Given the description of an element on the screen output the (x, y) to click on. 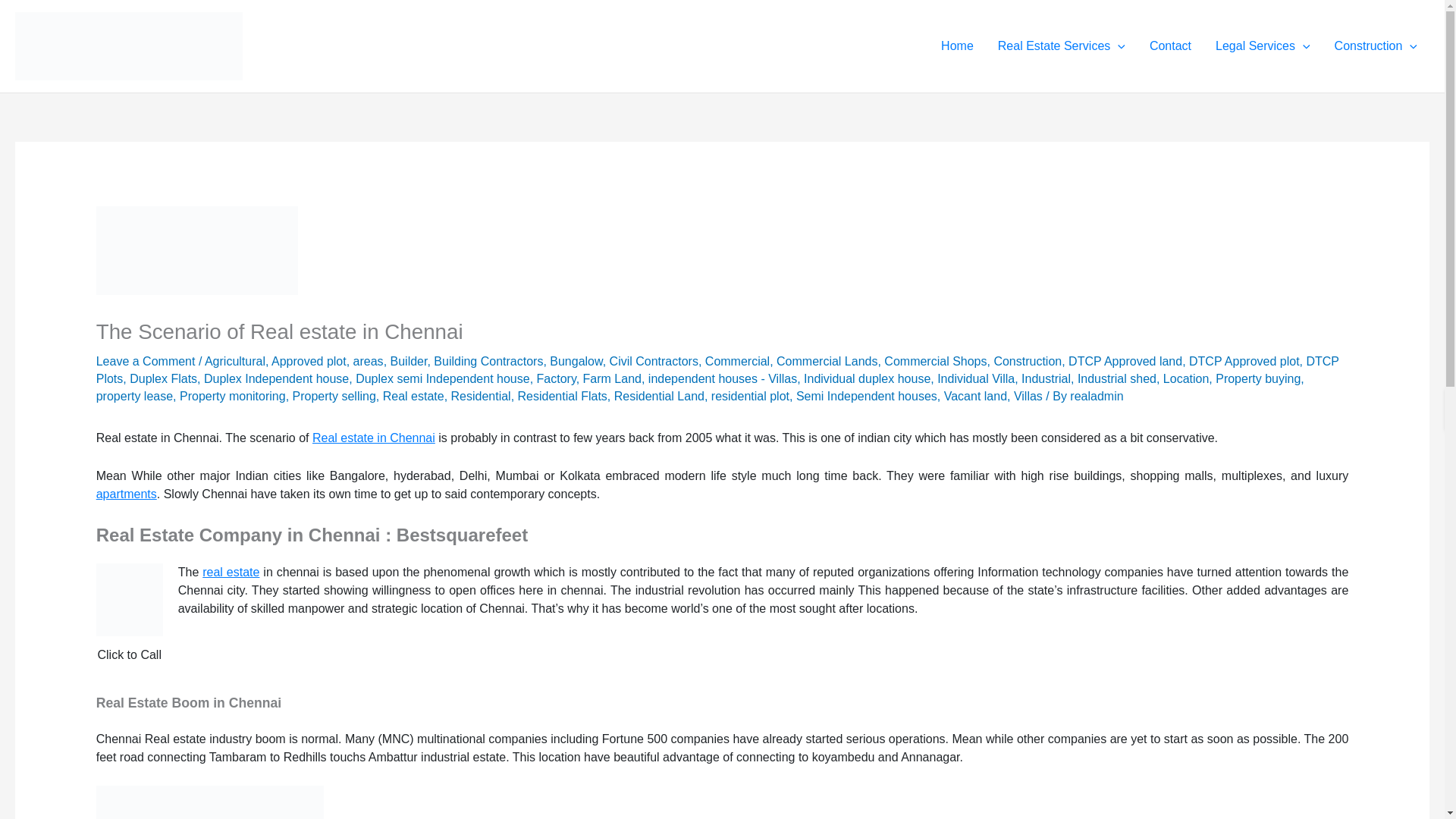
Legal Services (1263, 45)
Real Estate Services (1061, 45)
Contact (1170, 45)
Home (956, 45)
Construction (1375, 45)
Contact the best Real estate company in chennai (1170, 45)
Property Consultants in chennai (1061, 45)
